Given the description of an element on the screen output the (x, y) to click on. 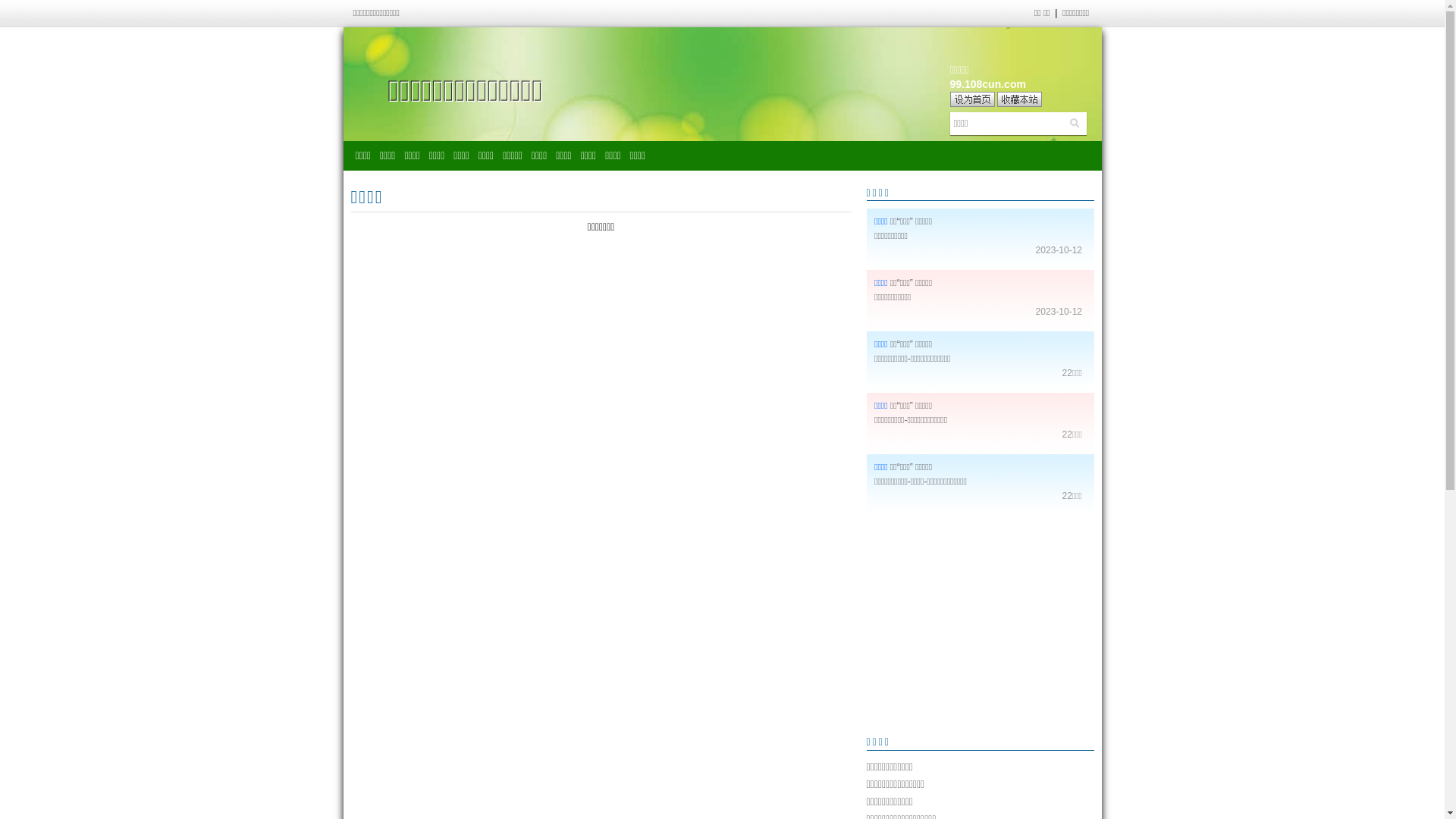
Advertisement Element type: hover (979, 624)
